Given the description of an element on the screen output the (x, y) to click on. 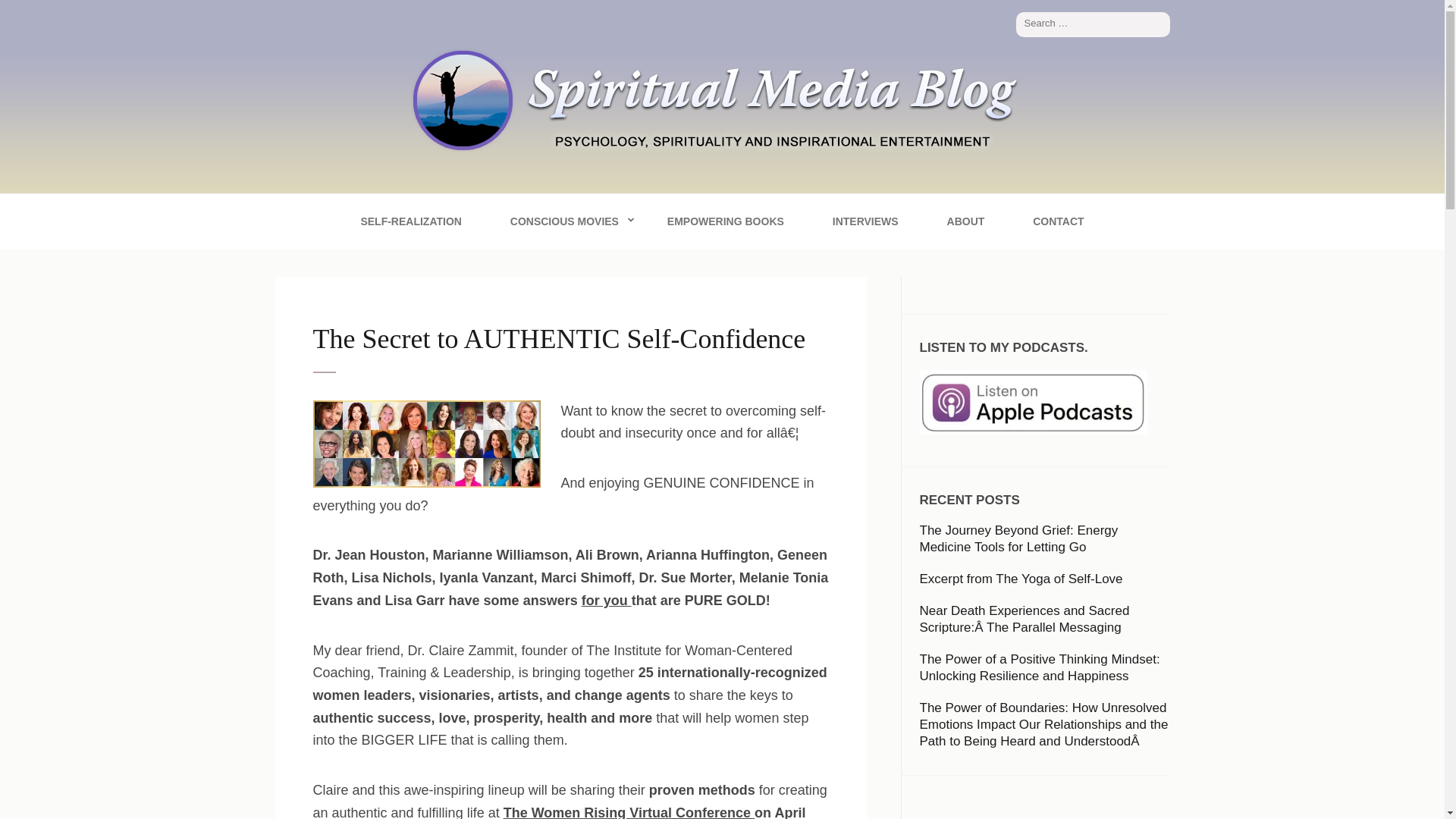
for you (605, 600)
INTERVIEWS (865, 221)
Spiritual Media Blog (443, 194)
CONTACT (1057, 221)
The Women Rising Virtual Conference (628, 812)
EMPOWERING BOOKS (725, 221)
Search (1158, 24)
CONSCIOUS MOVIES (564, 221)
SELF-REALIZATION (410, 221)
Search (1158, 24)
